Given the description of an element on the screen output the (x, y) to click on. 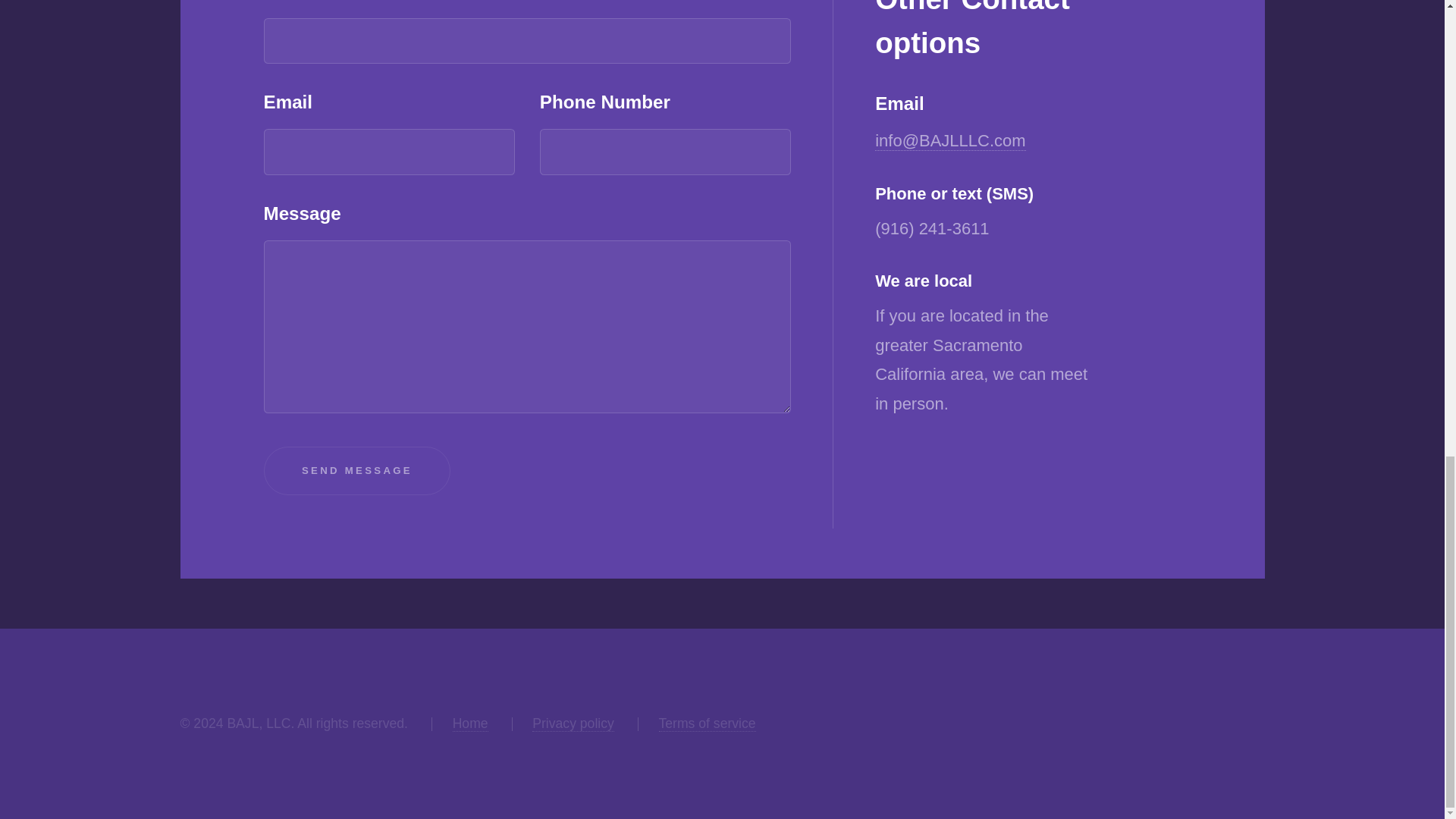
Terms of service (706, 723)
Privacy policy (573, 723)
SEND MESSAGE (357, 471)
Home (469, 723)
